Given the description of an element on the screen output the (x, y) to click on. 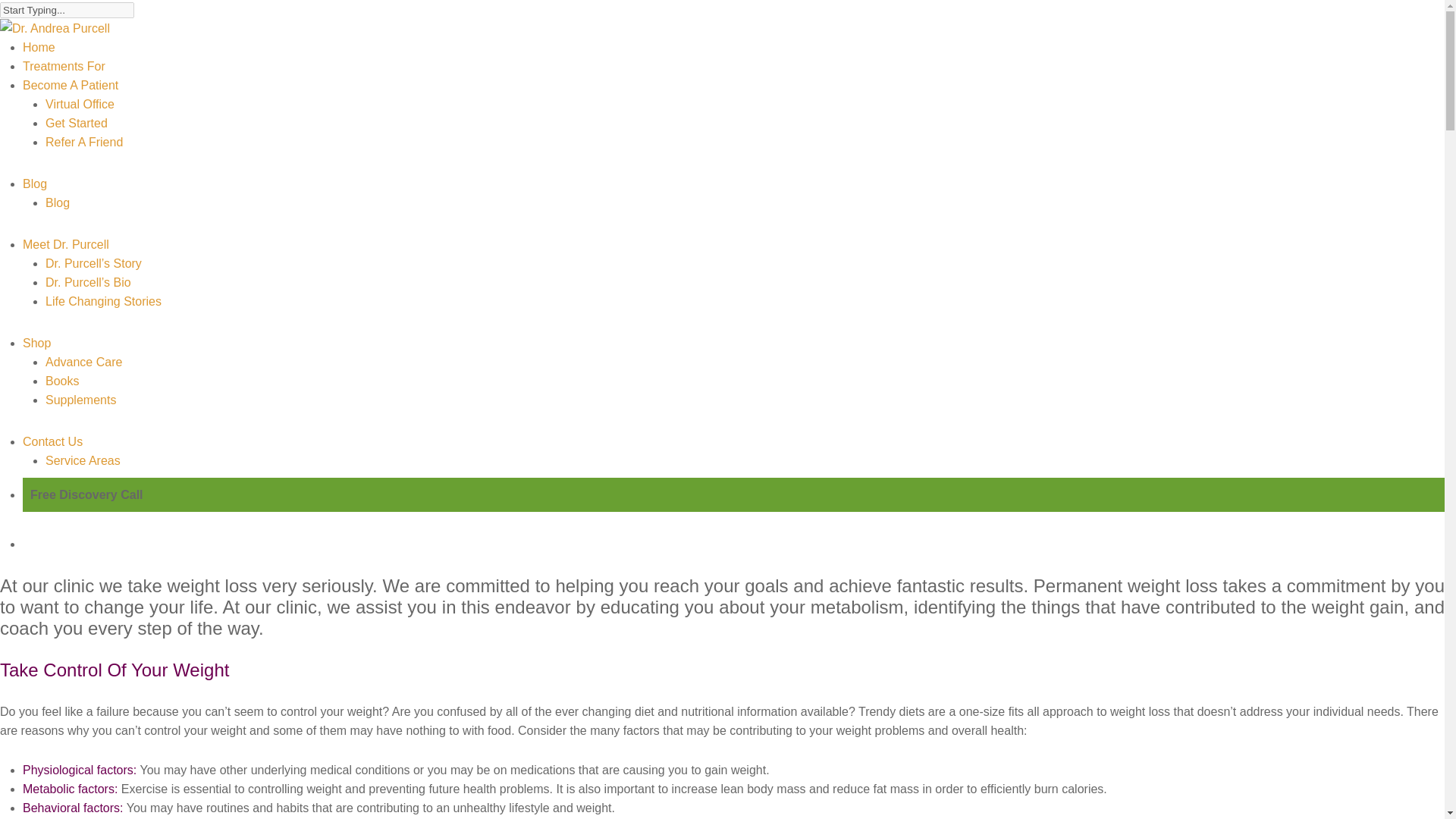
Books (61, 380)
Home (39, 47)
Blog (34, 183)
Virtual Office (80, 103)
Refer A Friend (83, 141)
Start Typing... (66, 10)
Life Changing Stories (103, 300)
Supplements (80, 399)
Contact Us (52, 440)
Advance Care (83, 361)
